Given the description of an element on the screen output the (x, y) to click on. 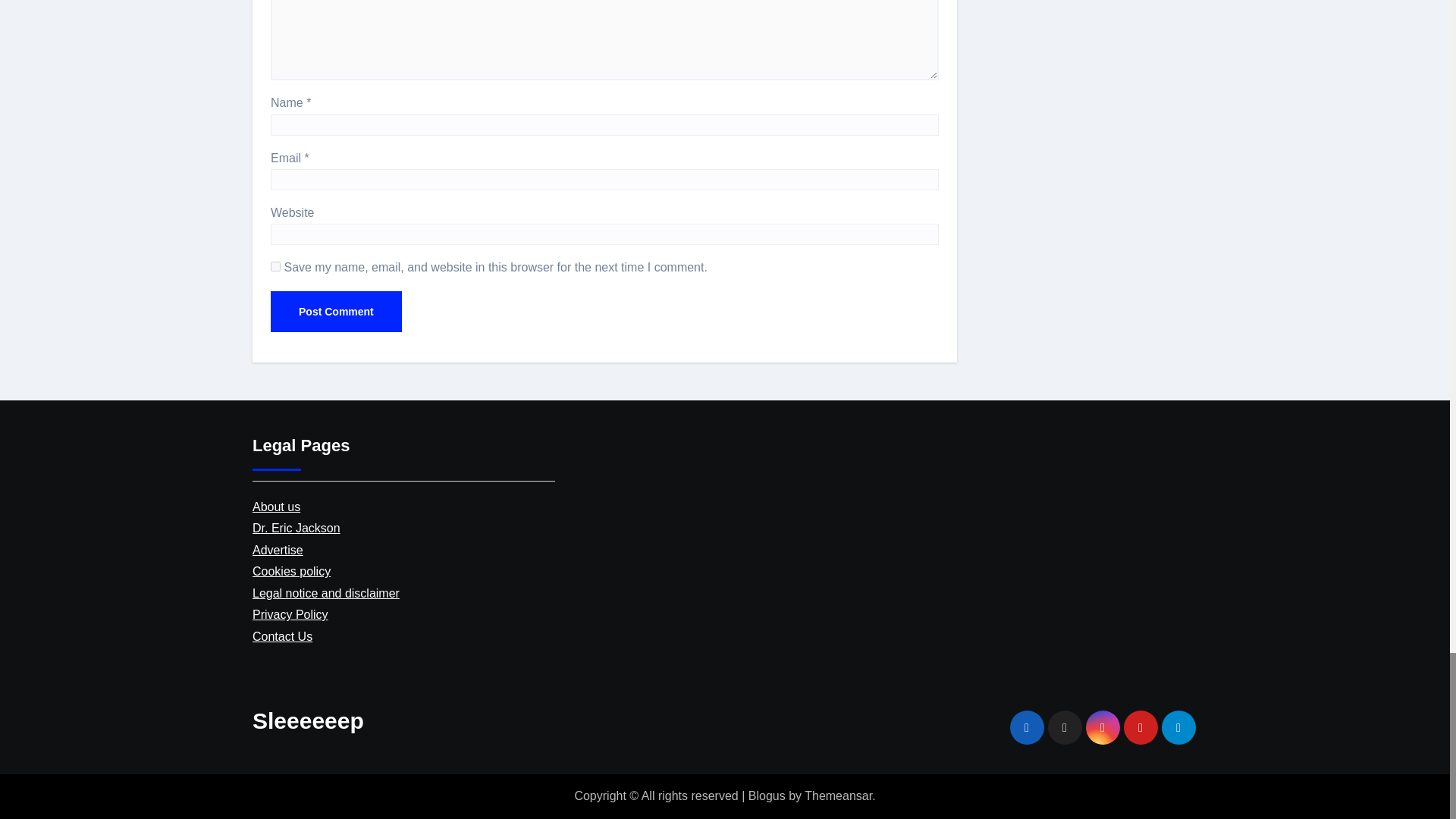
yes (275, 266)
Post Comment (335, 311)
